Given the description of an element on the screen output the (x, y) to click on. 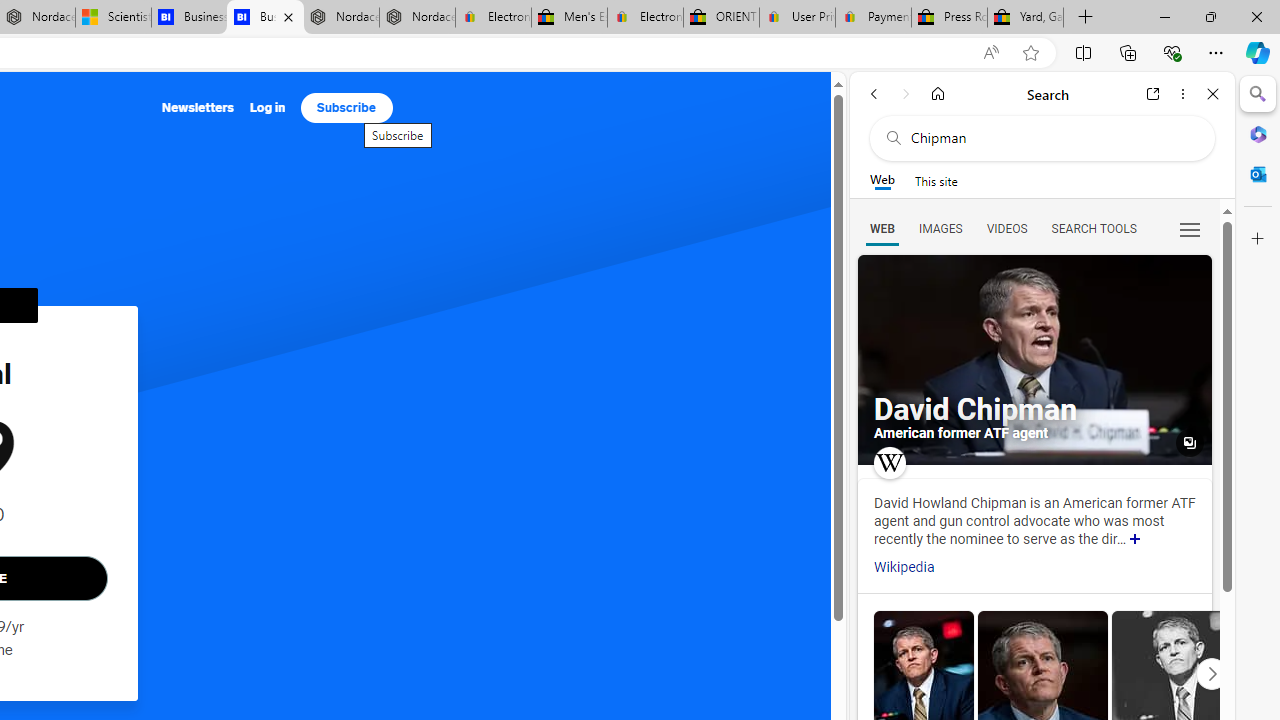
Show more (1135, 539)
All images (1190, 443)
